Given the description of an element on the screen output the (x, y) to click on. 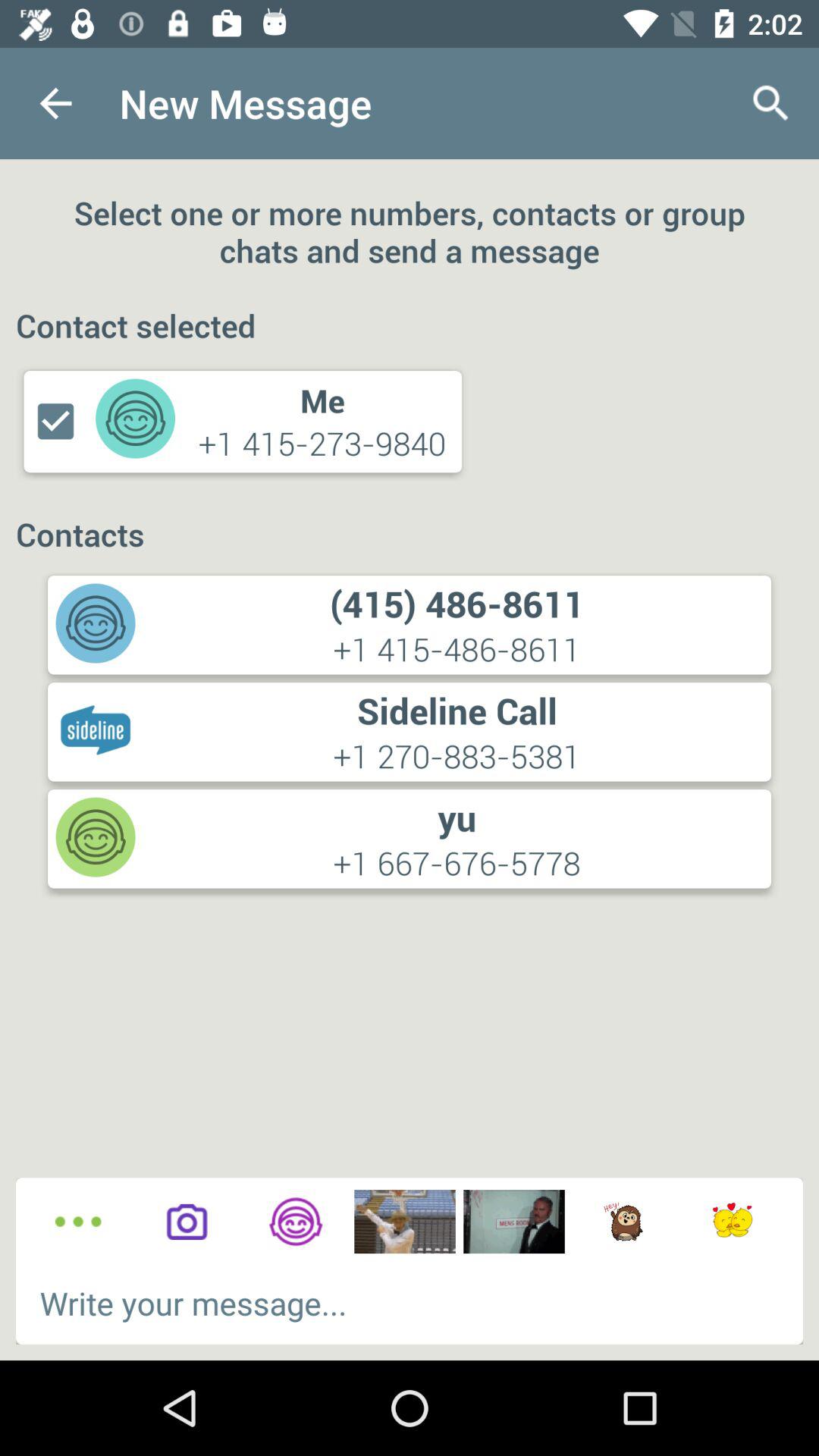
go to emojis (732, 1221)
